Given the description of an element on the screen output the (x, y) to click on. 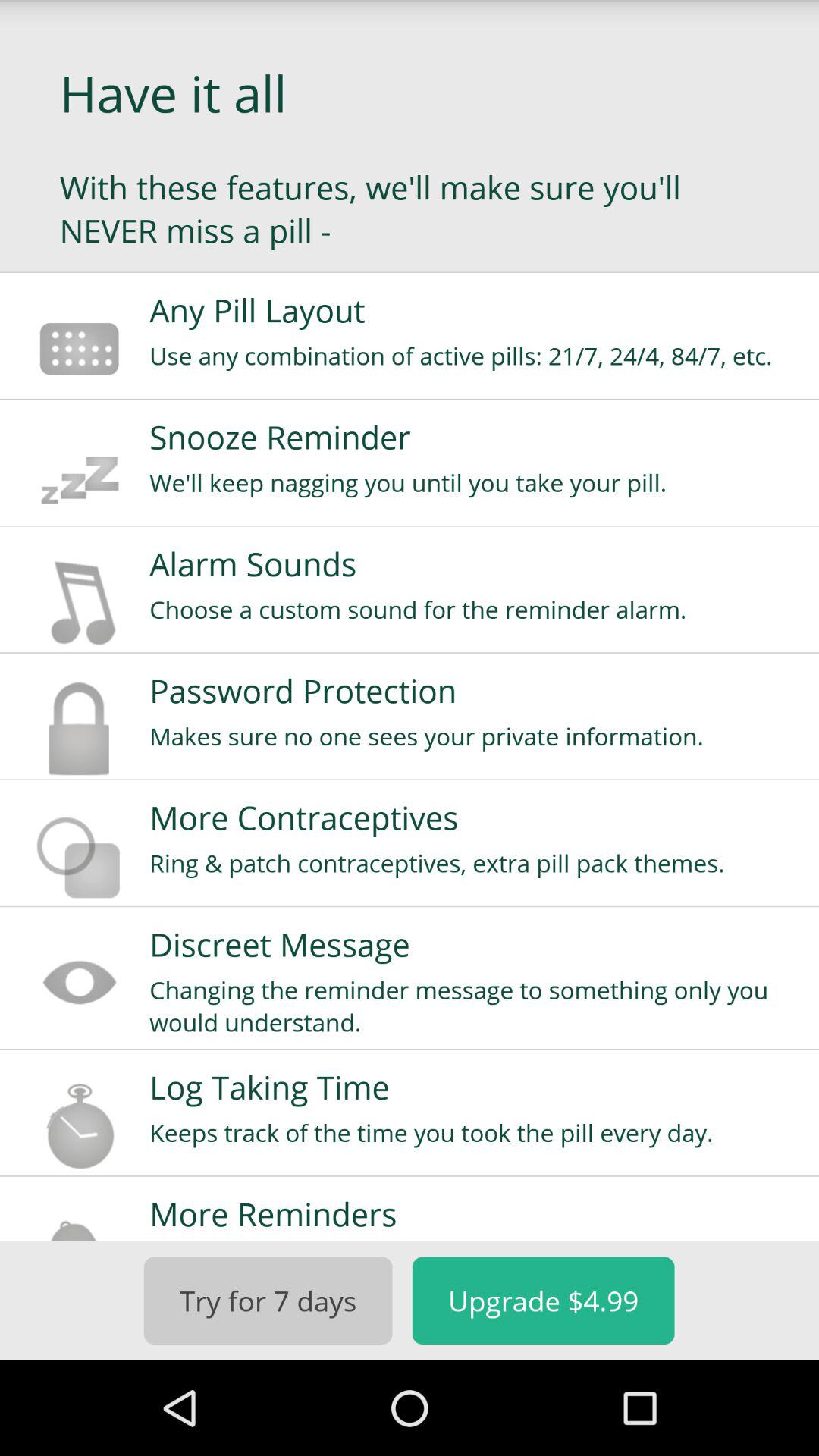
scroll until the discreet message item (474, 944)
